Given the description of an element on the screen output the (x, y) to click on. 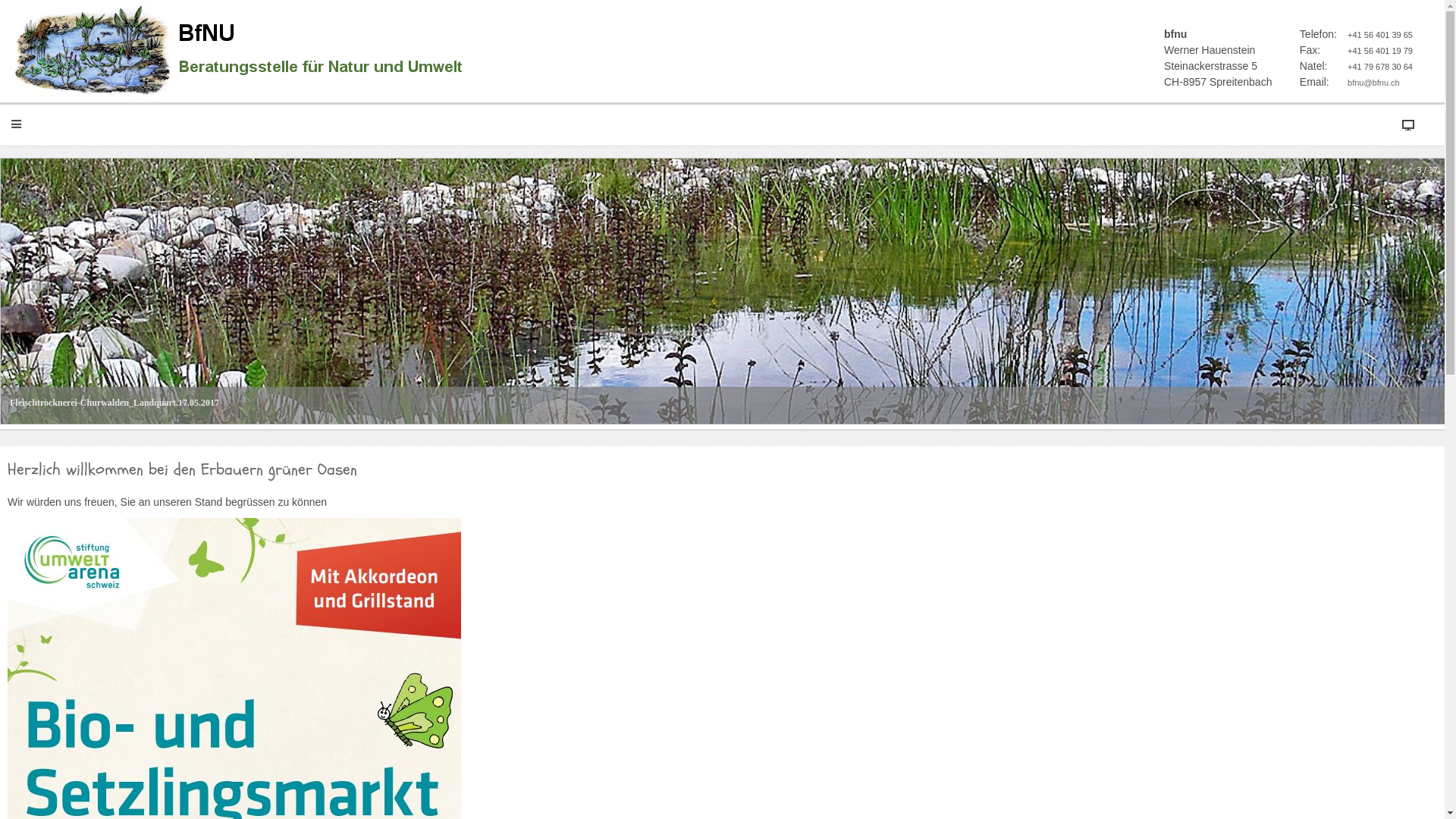
bfnu@bfnu.ch Element type: text (1373, 82)
